Given the description of an element on the screen output the (x, y) to click on. 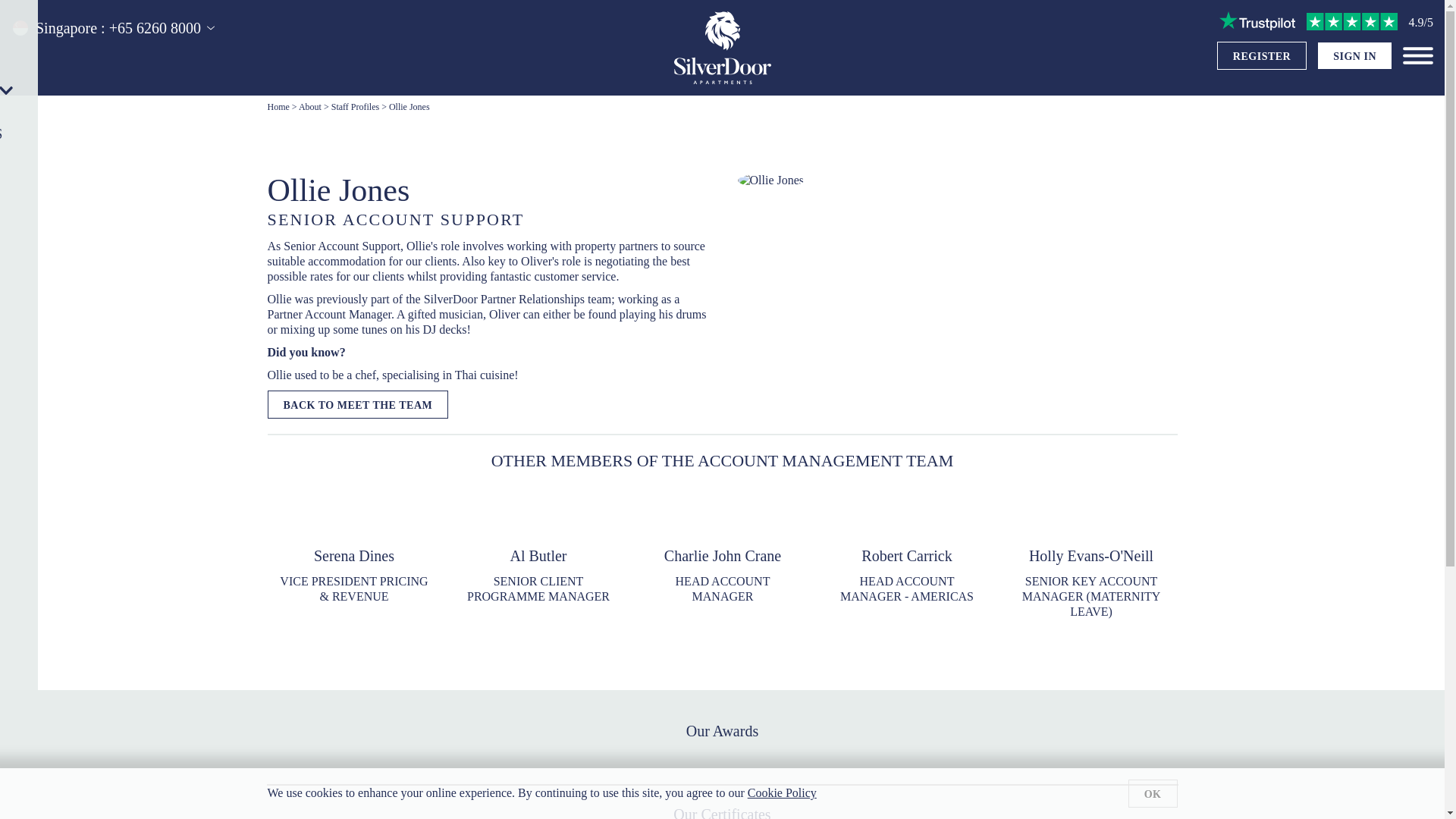
About (309, 106)
Staff Profiles (537, 551)
REGISTER (722, 551)
SIGN IN (354, 106)
BACK TO MEET THE TEAM (906, 551)
Home (1261, 55)
